Given the description of an element on the screen output the (x, y) to click on. 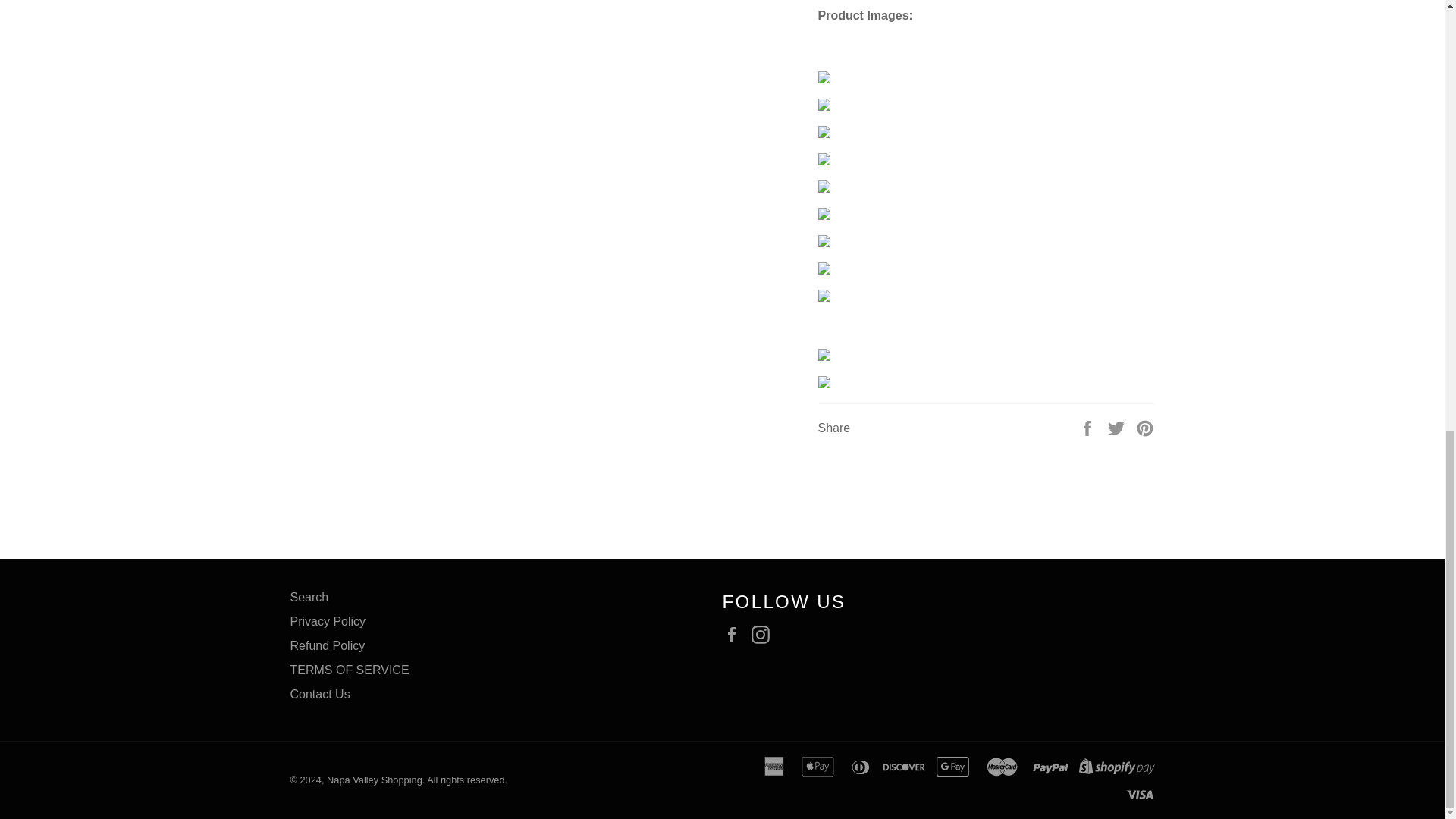
Pin on Pinterest (1144, 427)
Share on Facebook (1088, 427)
Napa Valley Shopping on Facebook (735, 634)
Napa Valley Shopping on Instagram (764, 634)
Tweet on Twitter (1117, 427)
